Given the description of an element on the screen output the (x, y) to click on. 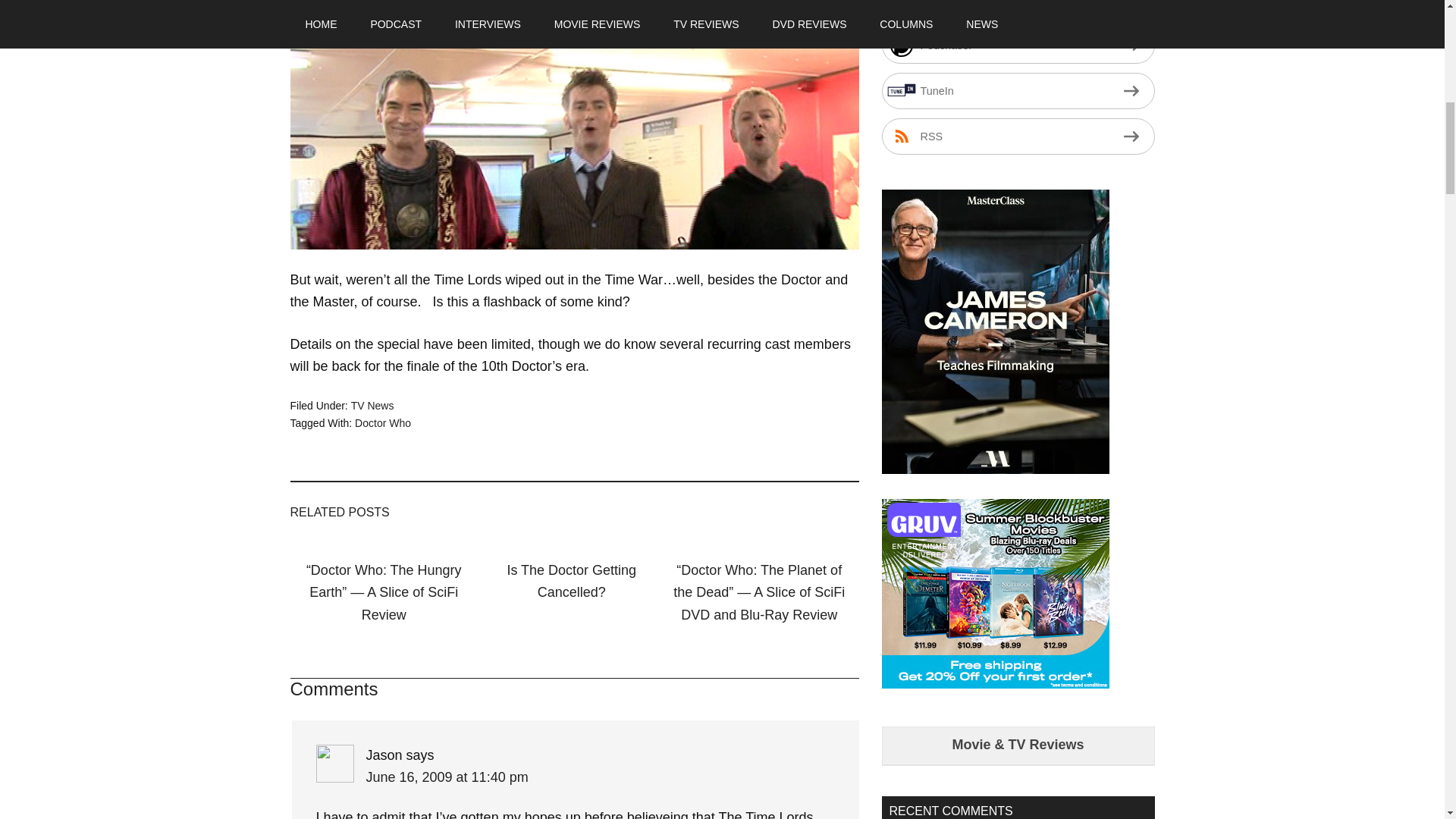
TV News (372, 405)
Is The Doctor Getting Cancelled? (571, 580)
Subscribe via RSS (1017, 135)
Doctor Who (382, 422)
Subscribe on Podchaser (1017, 45)
Subscribe on iHeartRadio (1017, 9)
June 16, 2009 at 11:40 pm (446, 776)
Subscribe on TuneIn (1017, 90)
